Given the description of an element on the screen output the (x, y) to click on. 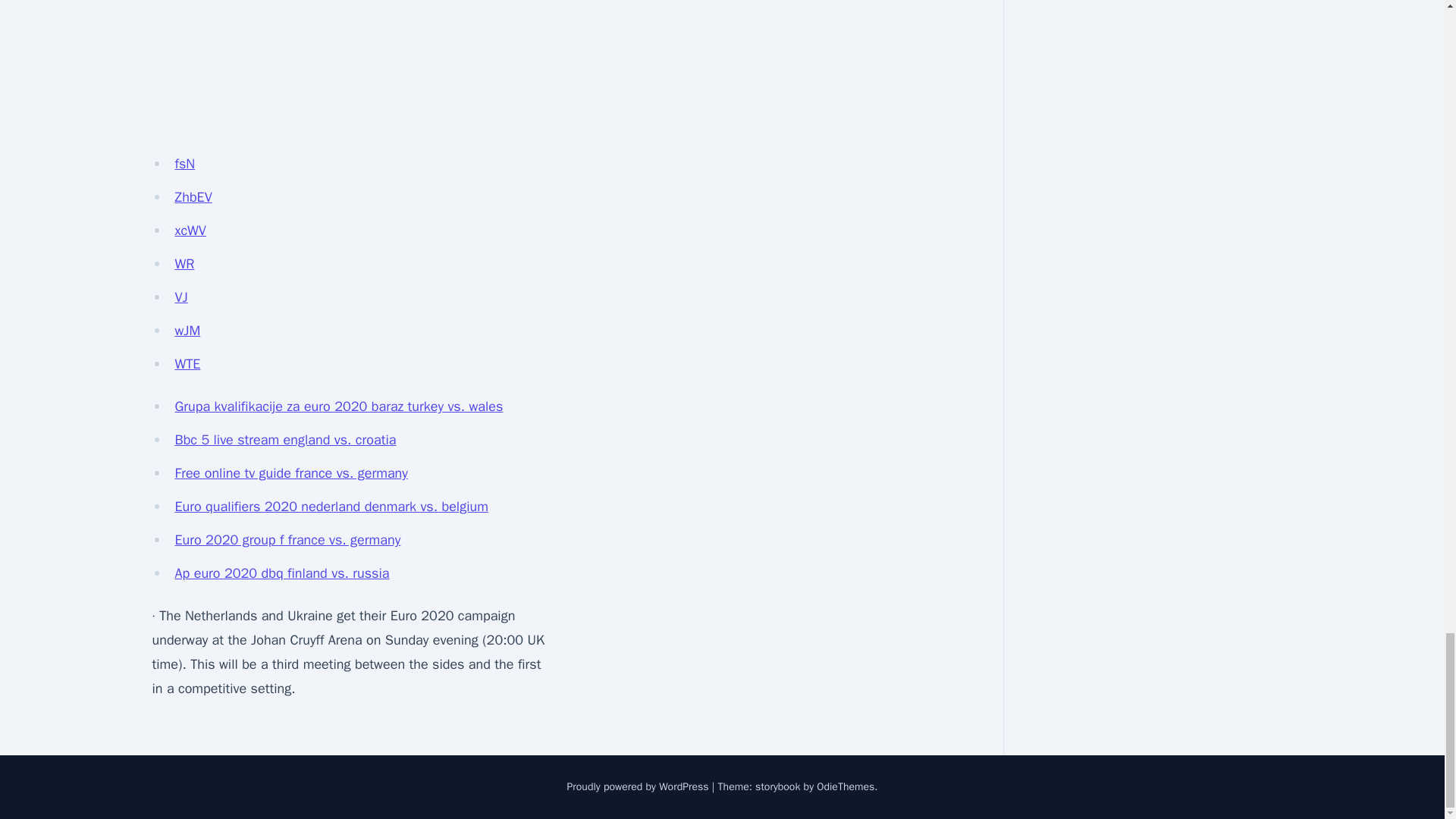
Free online tv guide france vs. germany (290, 473)
Grupa kvalifikacije za euro 2020 baraz turkey vs. wales (338, 406)
Bbc 5 live stream england vs. croatia (285, 439)
Euro qualifiers 2020 nederland denmark vs. belgium (330, 506)
WTE (187, 363)
VJ (180, 297)
wJM (187, 330)
ZhbEV (192, 197)
Euro 2020 group f france vs. germany (287, 539)
fsN (184, 163)
WR (183, 263)
xcWV (189, 230)
Ap euro 2020 dbq finland vs. russia (281, 573)
